Given the description of an element on the screen output the (x, y) to click on. 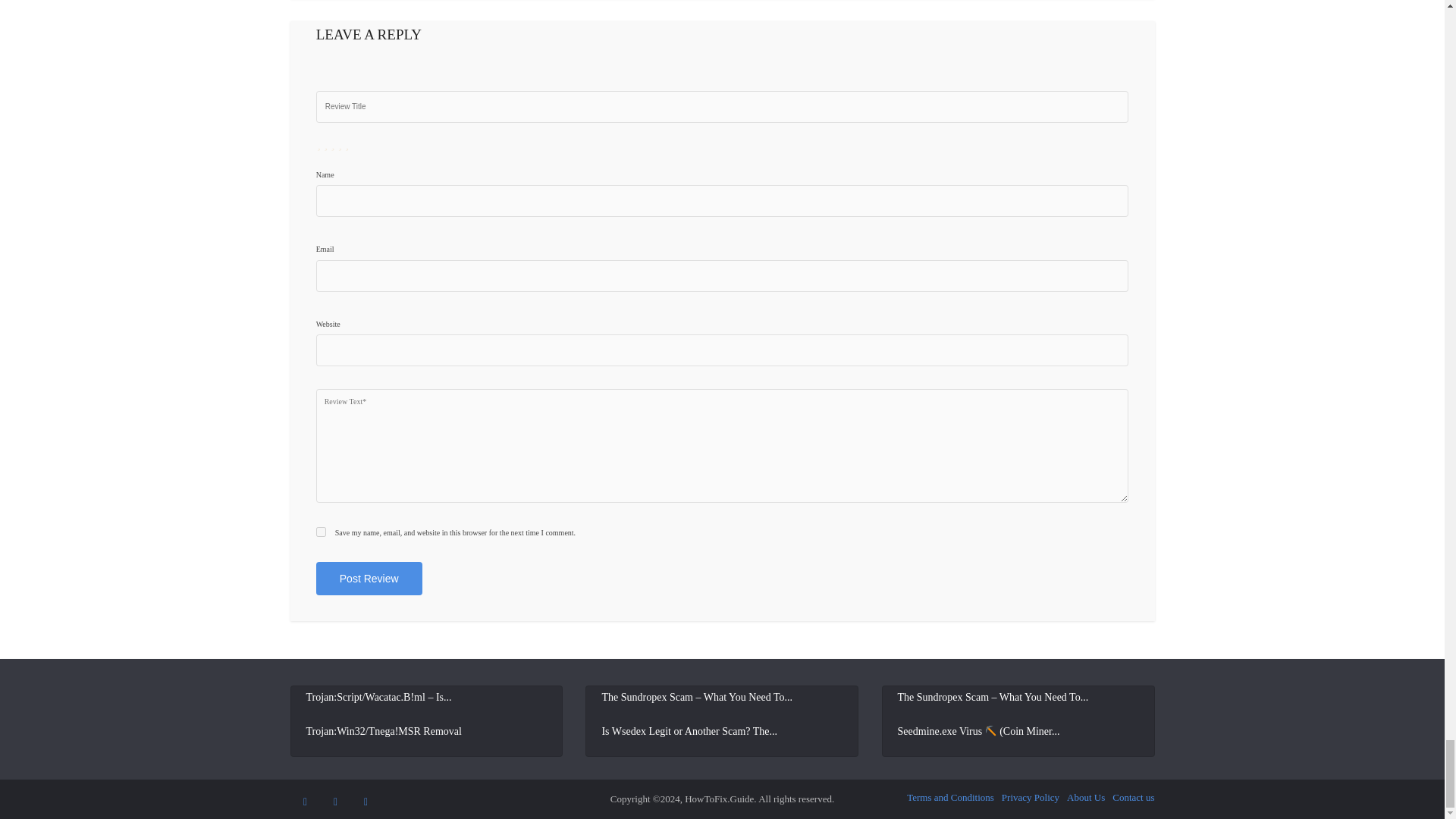
yes (320, 532)
Post Review (368, 578)
